Given the description of an element on the screen output the (x, y) to click on. 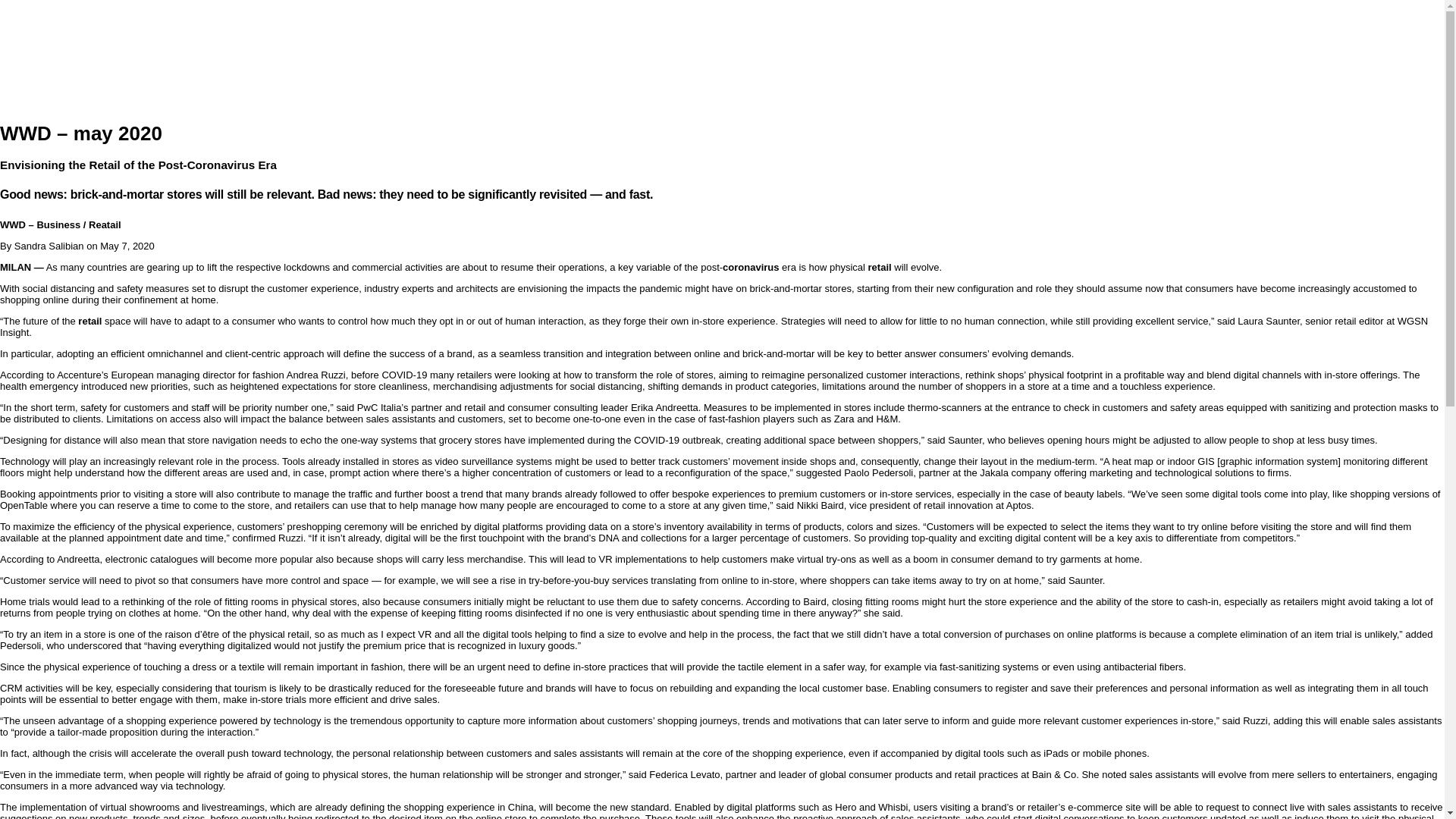
retail (89, 320)
retail (879, 266)
coronavirus (750, 266)
